Given the description of an element on the screen output the (x, y) to click on. 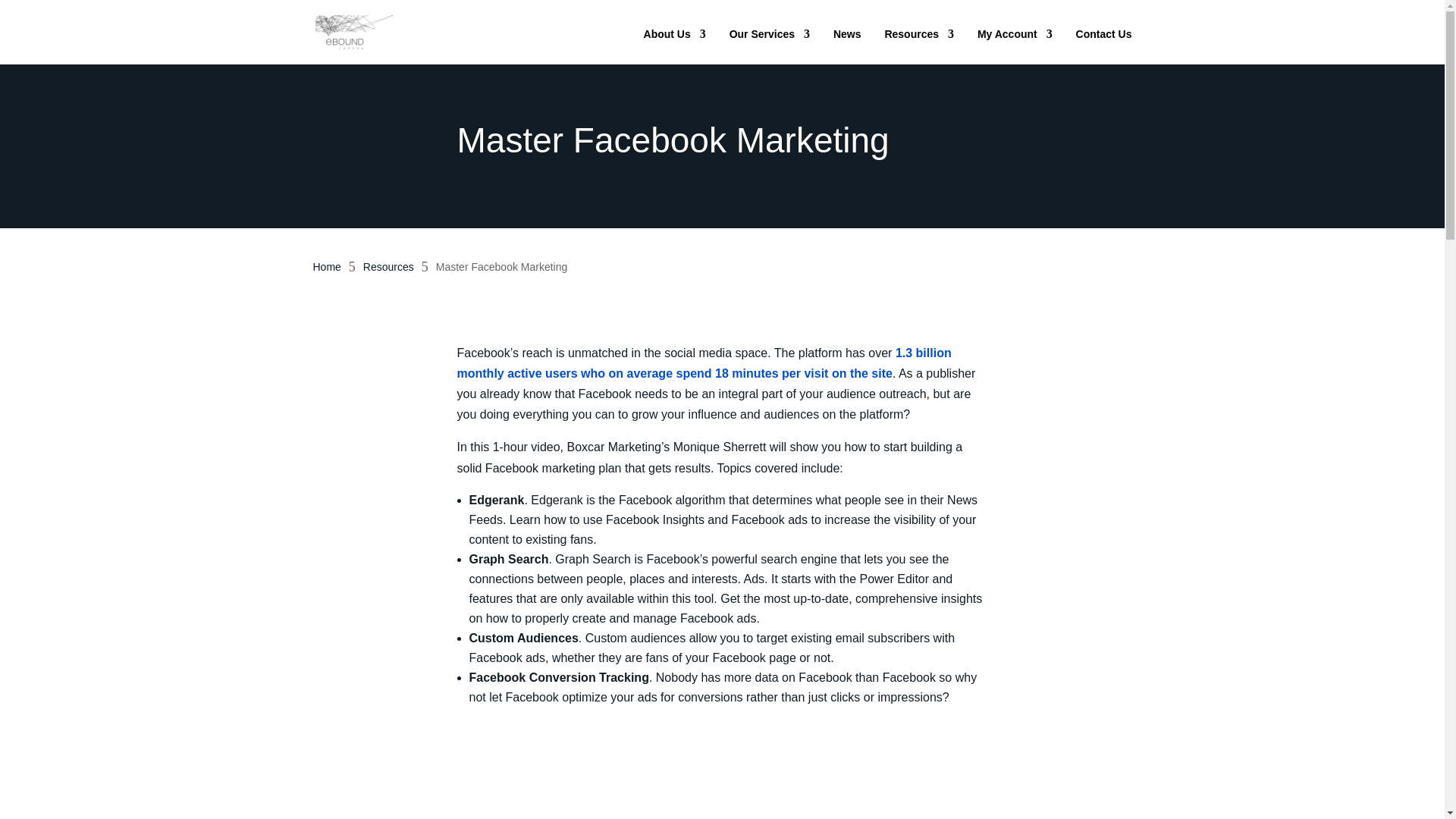
Our Services (767, 44)
Resources (387, 266)
About Us (673, 44)
My Account (1013, 44)
Contact Us (1101, 44)
Resources (916, 44)
Home (326, 266)
